Given the description of an element on the screen output the (x, y) to click on. 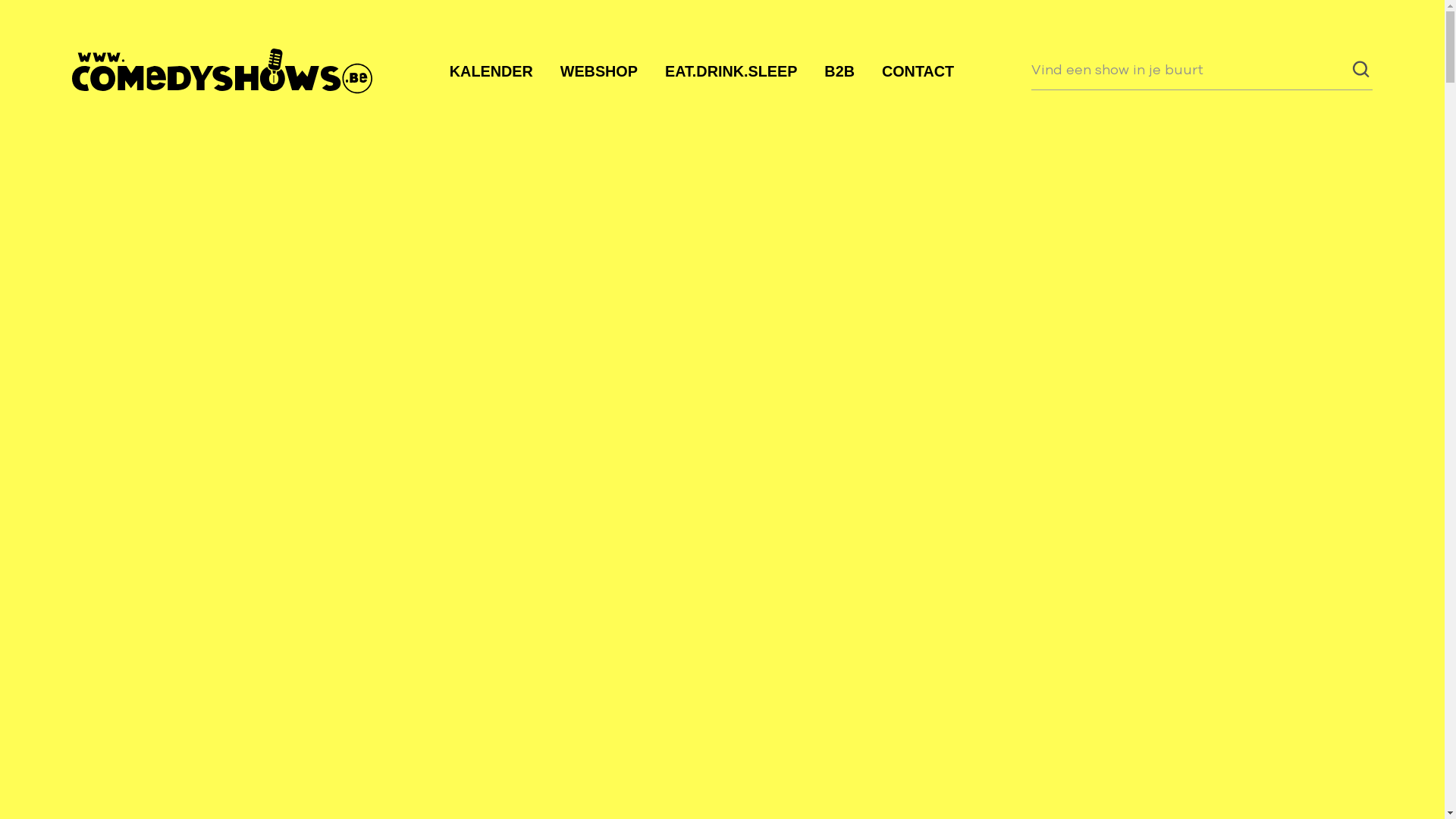
KALENDER Element type: text (491, 72)
Inschrijven Element type: text (1126, 751)
EAT.DRINK.SLEEP Element type: text (731, 72)
WEBSHOP Element type: text (598, 72)
CONTACT Element type: text (917, 72)
B2B Element type: text (839, 72)
